Given the description of an element on the screen output the (x, y) to click on. 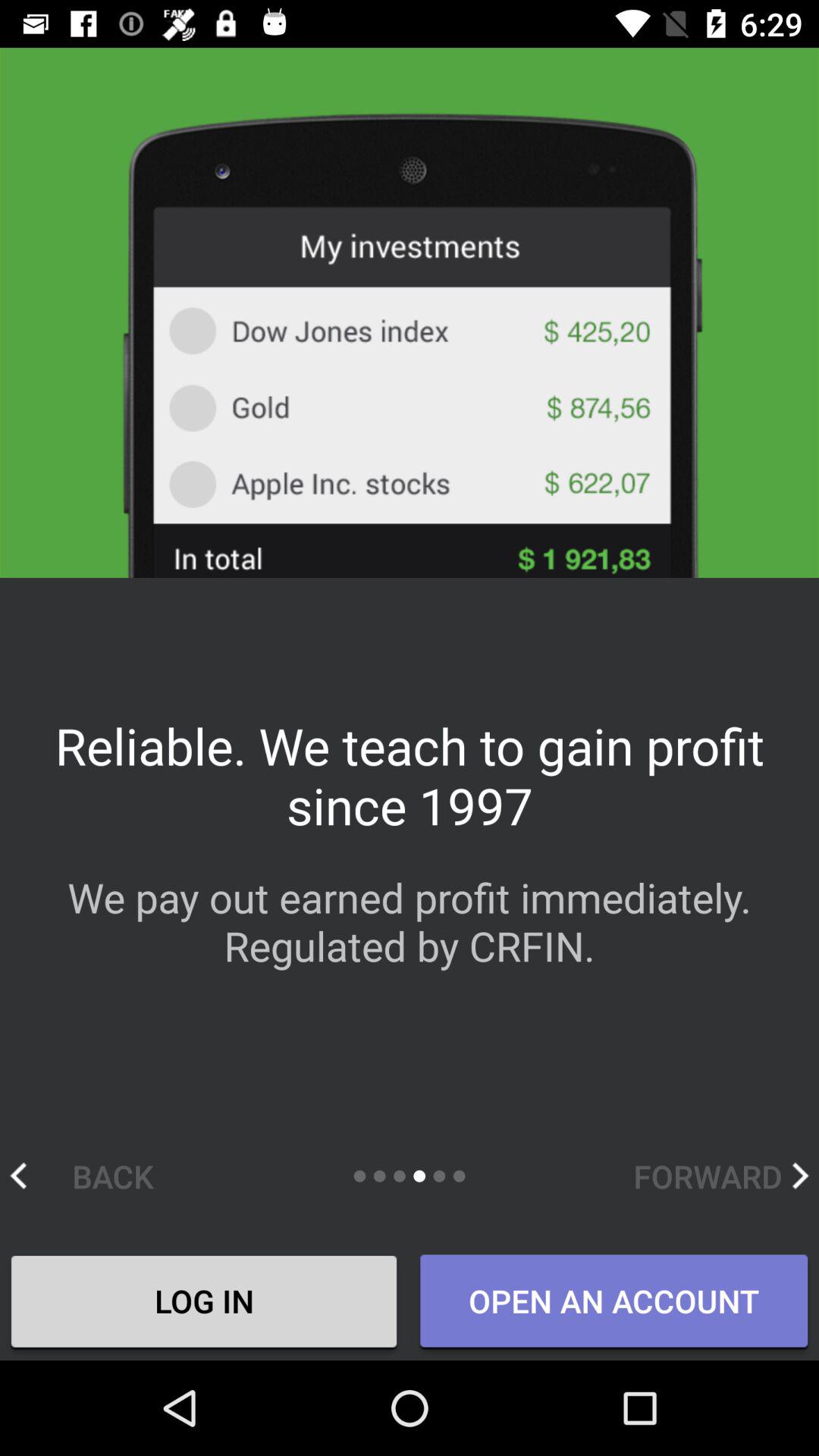
turn on icon above the log in (97, 1175)
